Given the description of an element on the screen output the (x, y) to click on. 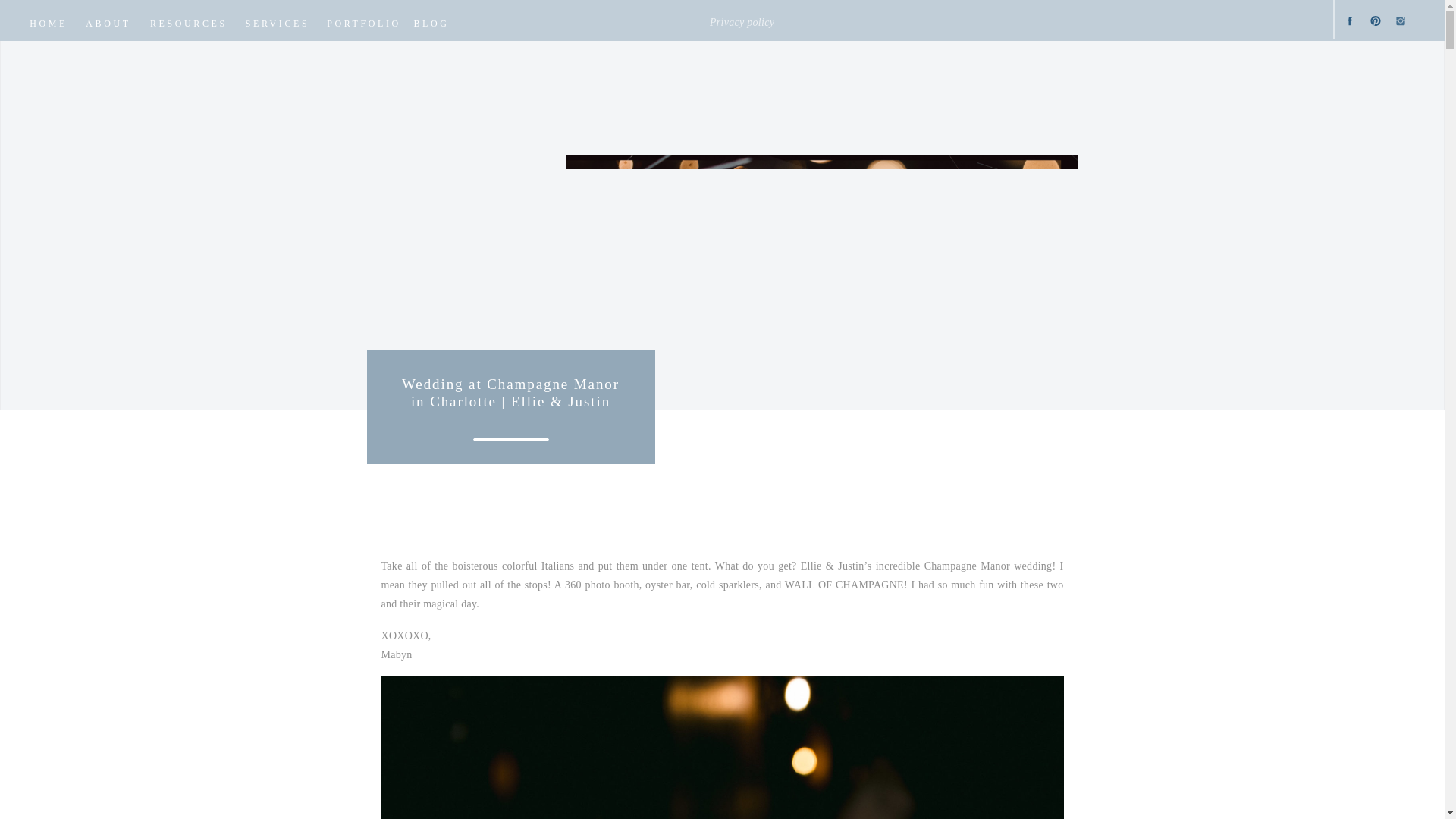
HOME (48, 21)
SERVICES (277, 21)
ABOUT (108, 21)
BLOG (431, 21)
PORTFOLIO (363, 21)
Privacy policy (772, 19)
